Given the description of an element on the screen output the (x, y) to click on. 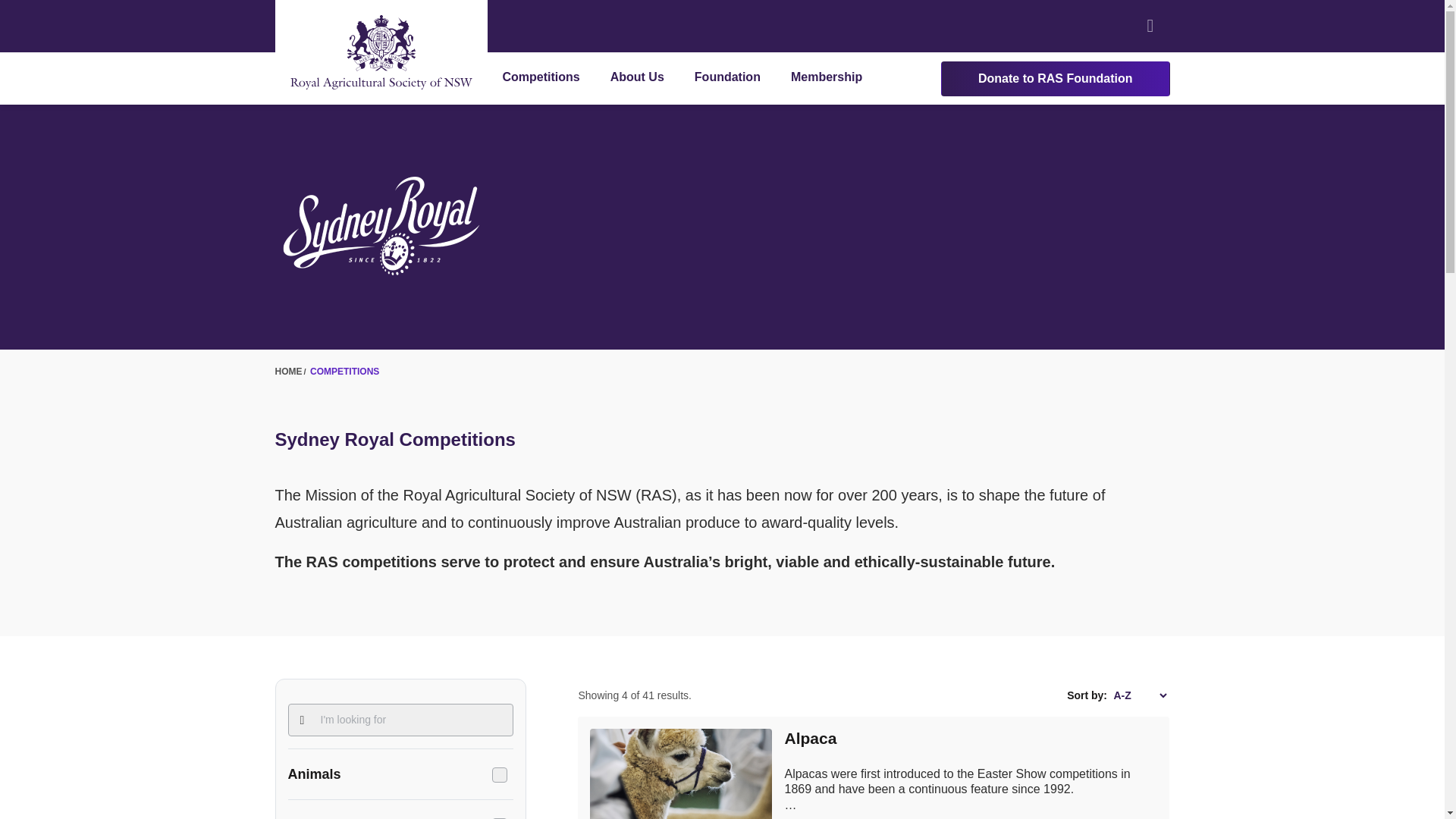
Competitions (540, 78)
Donate to RAS Foundation (1055, 77)
About Us (636, 78)
HOME (288, 371)
Membership (825, 78)
Alpaca (809, 737)
Foundation (727, 78)
Skip to main content (59, 8)
Animals (400, 774)
